Given the description of an element on the screen output the (x, y) to click on. 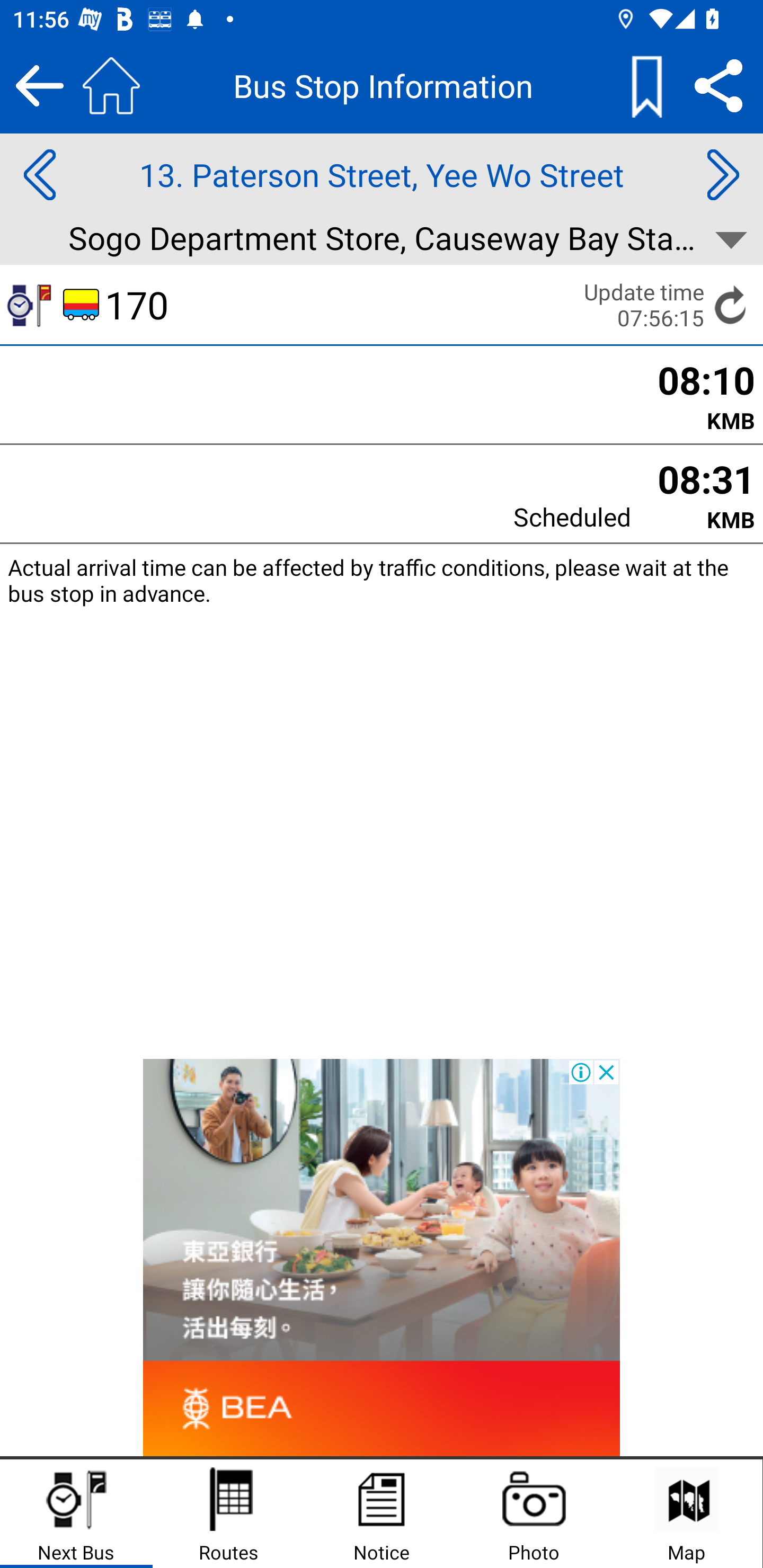
Jump to home page (111, 85)
Add bookmark (646, 85)
Share point to point route search criteria) (718, 85)
Back (39, 85)
Previous stop (39, 174)
Next stop (723, 174)
Sogo Department Store, Causeway Bay Station (381, 240)
Refresh (731, 304)
Advertisement (381, 1257)
Next Bus (76, 1513)
Routes (228, 1513)
Notice (381, 1513)
Photo (533, 1513)
Map (686, 1513)
